Given the description of an element on the screen output the (x, y) to click on. 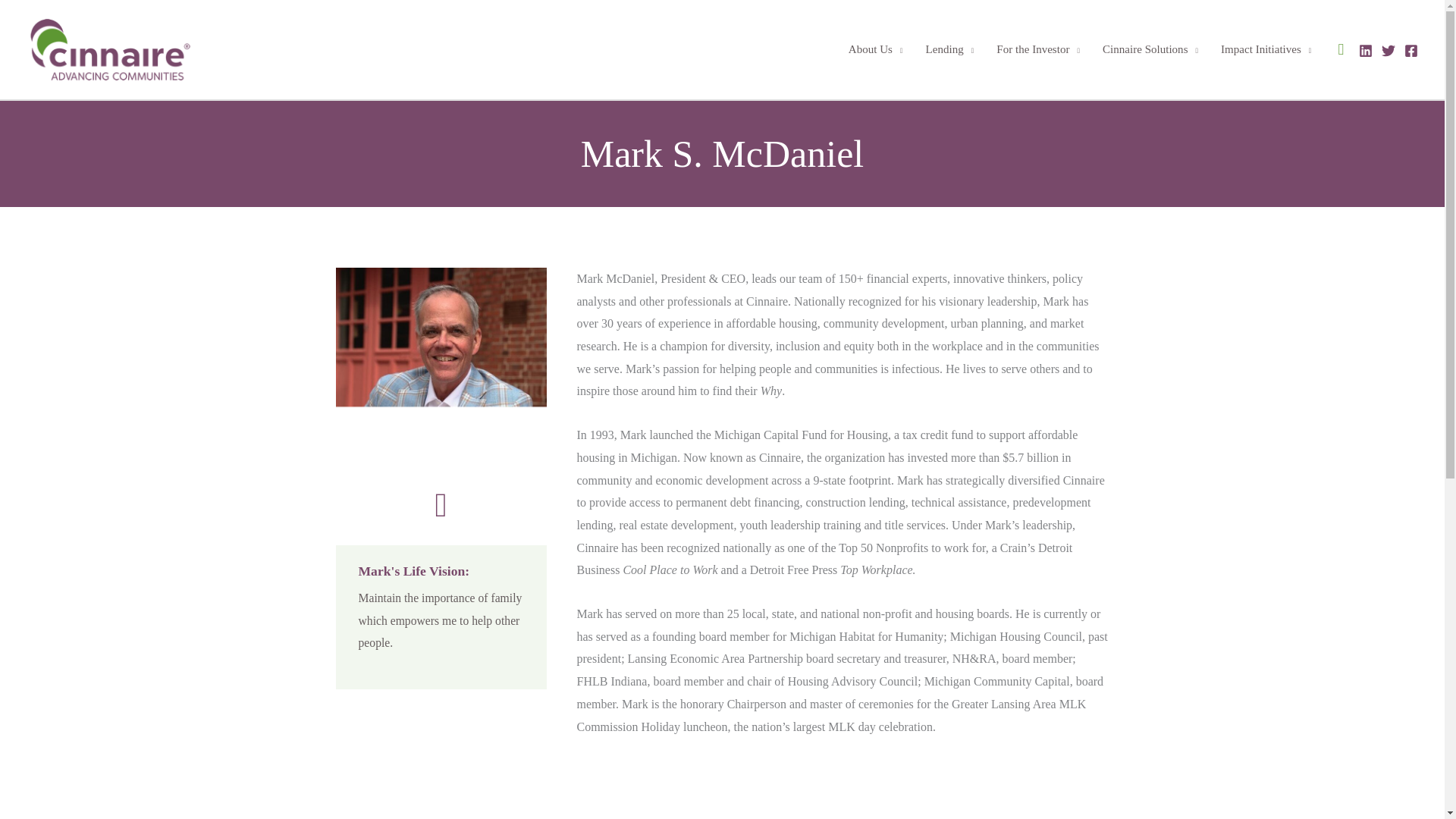
About Us (875, 48)
For the Investor (1037, 48)
Cinnaire Solutions (1149, 48)
Lending (949, 48)
Mark McDaniel headshot 2024 sm (440, 366)
